Given the description of an element on the screen output the (x, y) to click on. 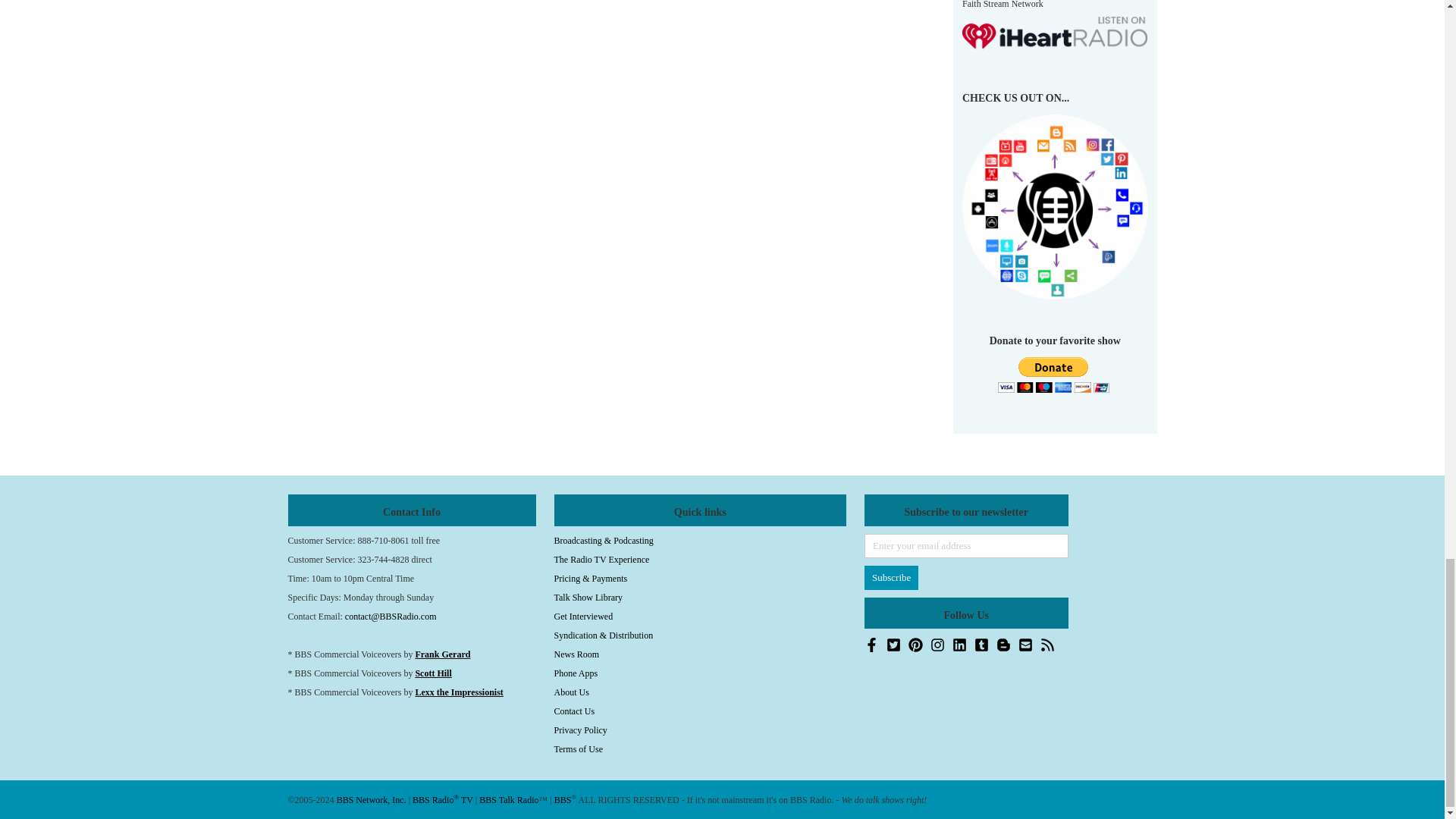
Subscribe (891, 577)
